Given the description of an element on the screen output the (x, y) to click on. 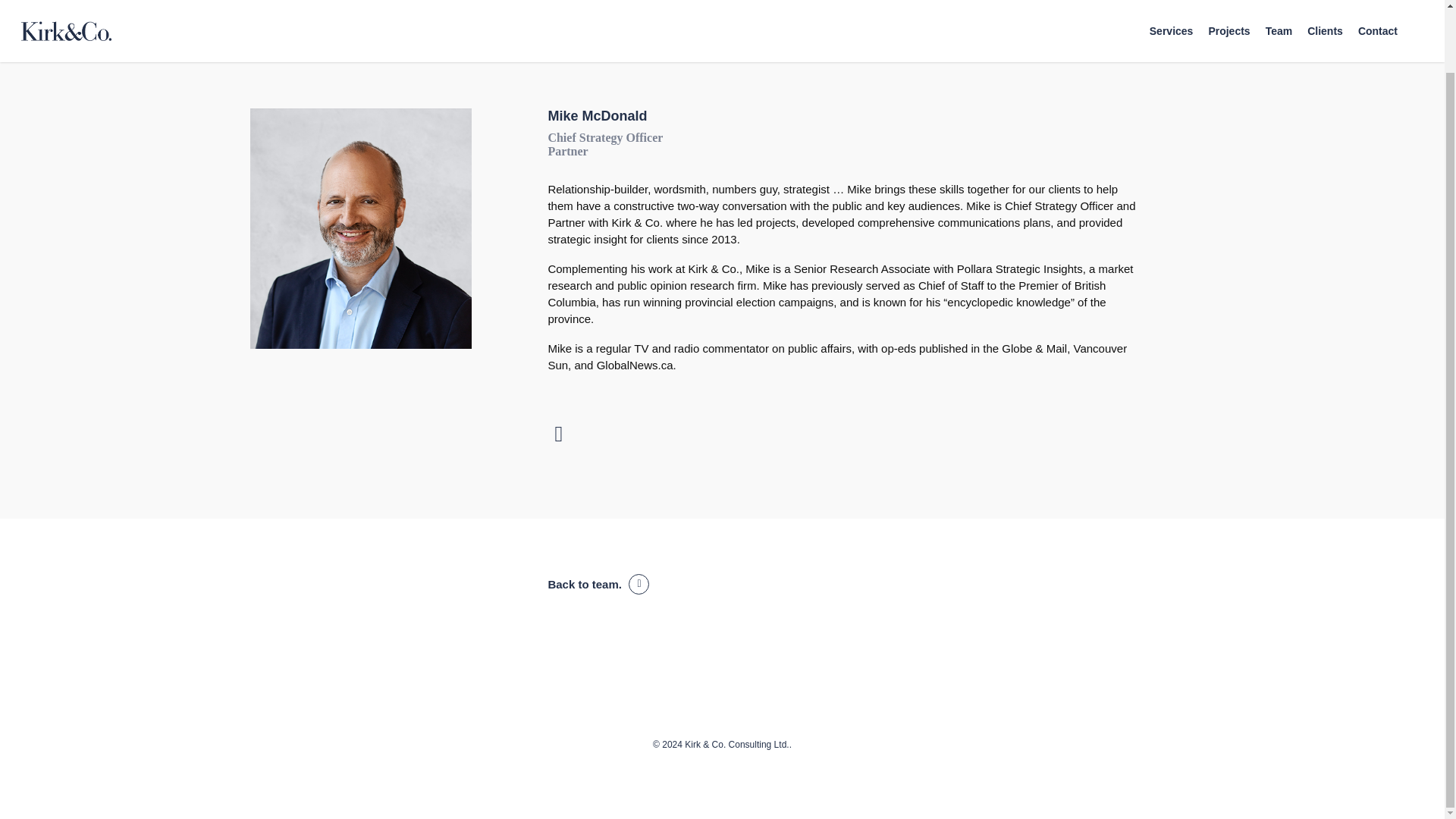
Back to team. (598, 584)
